Given the description of an element on the screen output the (x, y) to click on. 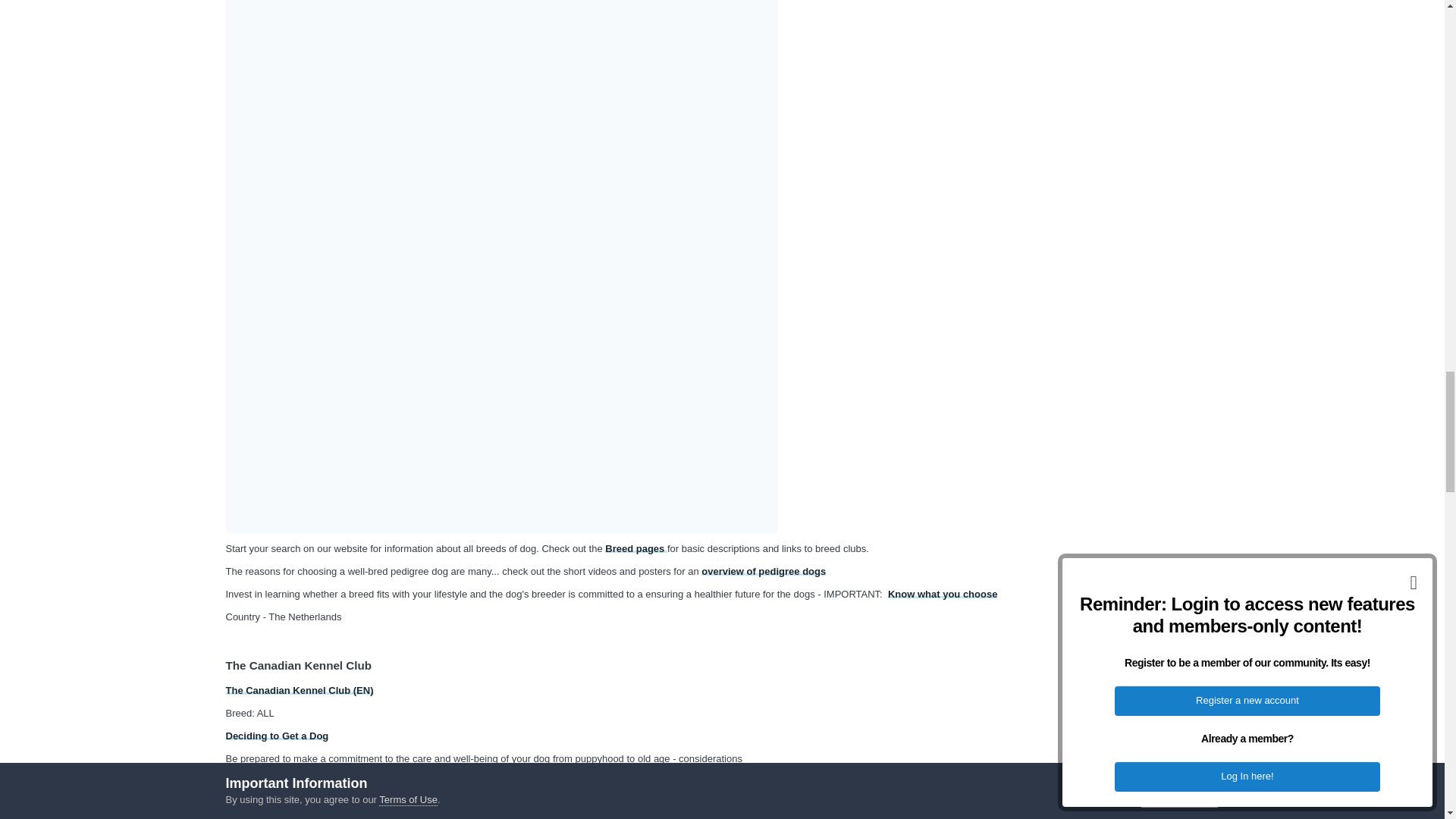
Enlarge image (501, 256)
